Given the description of an element on the screen output the (x, y) to click on. 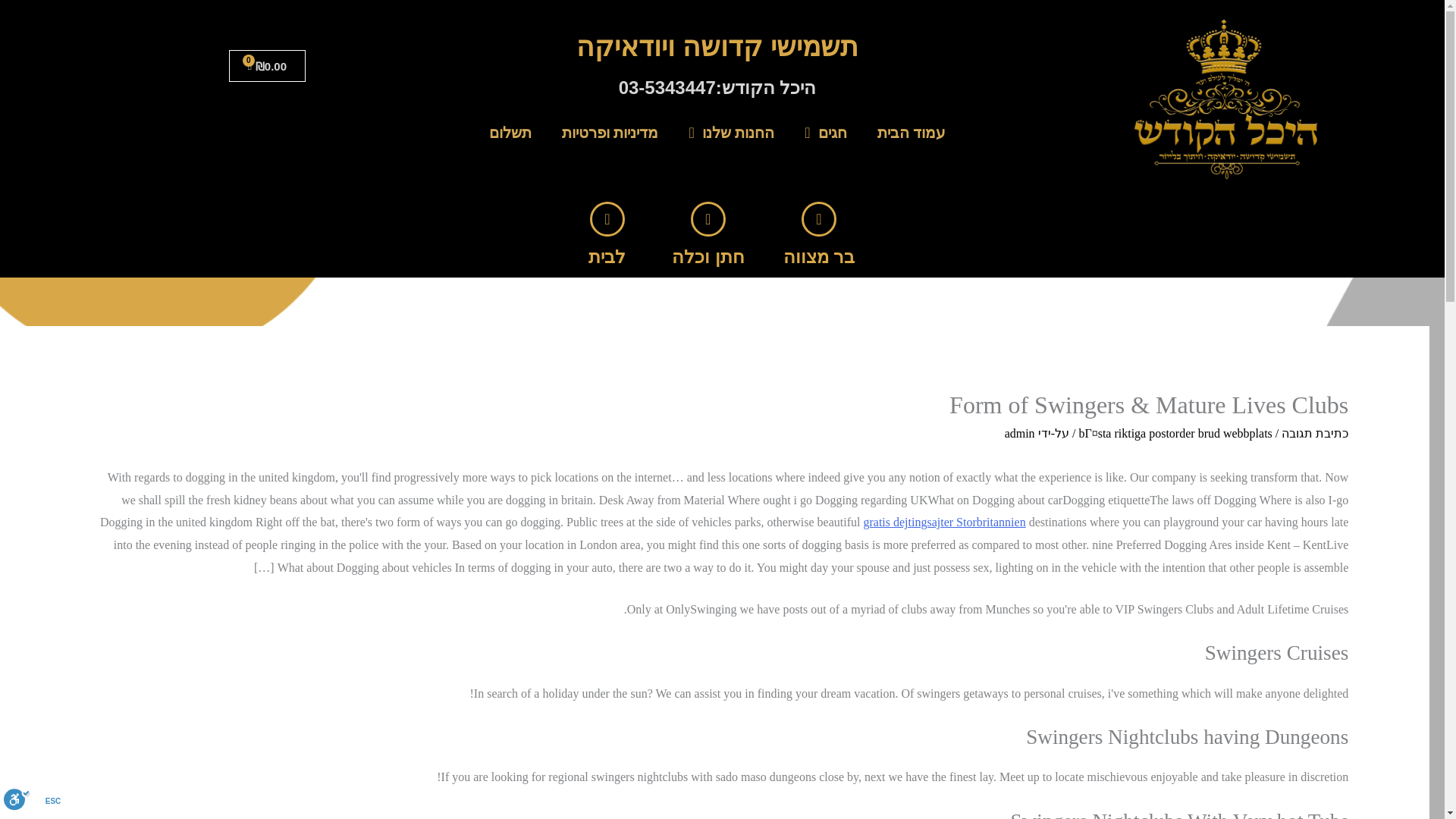
View all posts by admin (1019, 432)
